Given the description of an element on the screen output the (x, y) to click on. 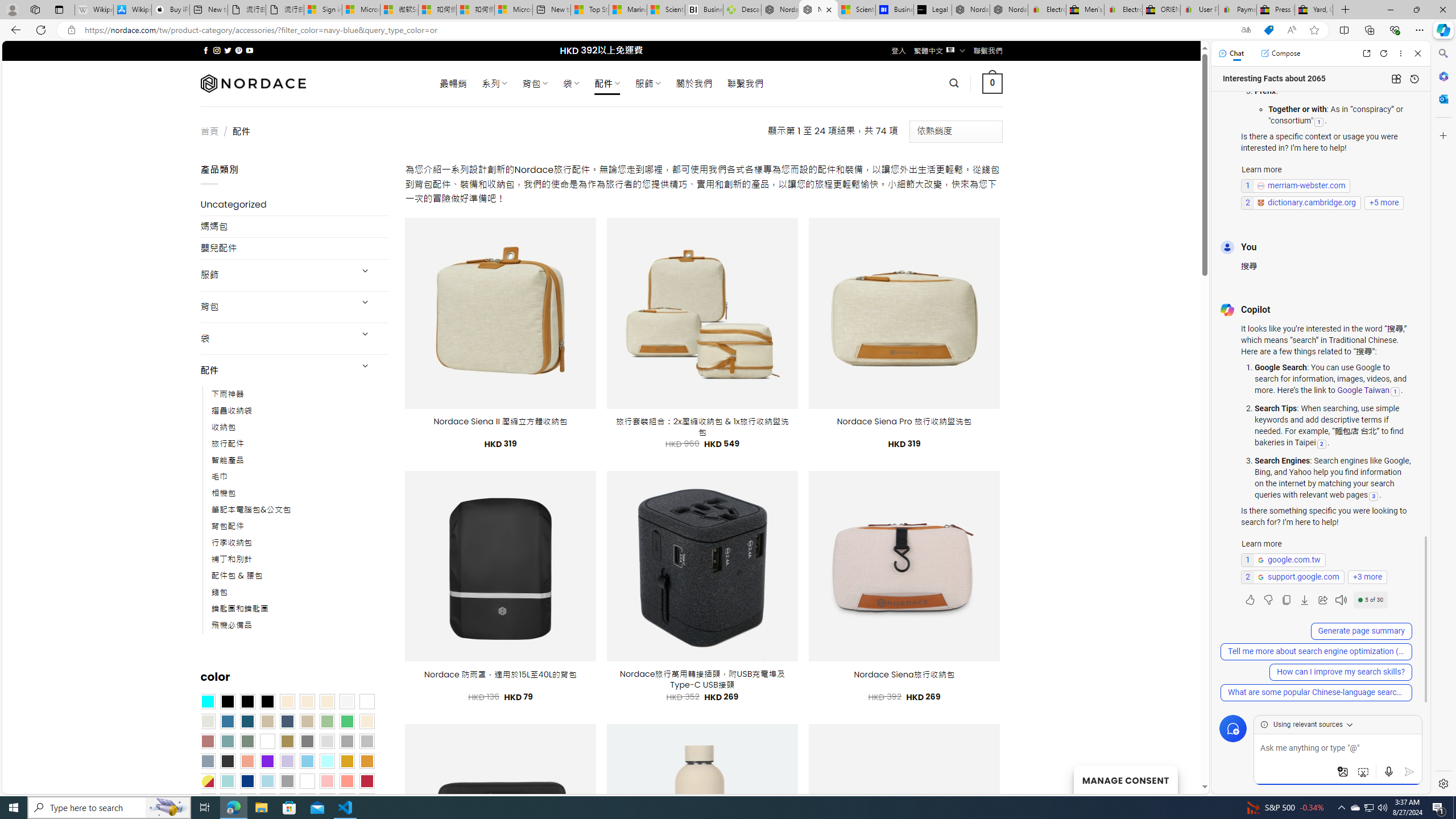
Minimize Search pane (1442, 53)
